Given the description of an element on the screen output the (x, y) to click on. 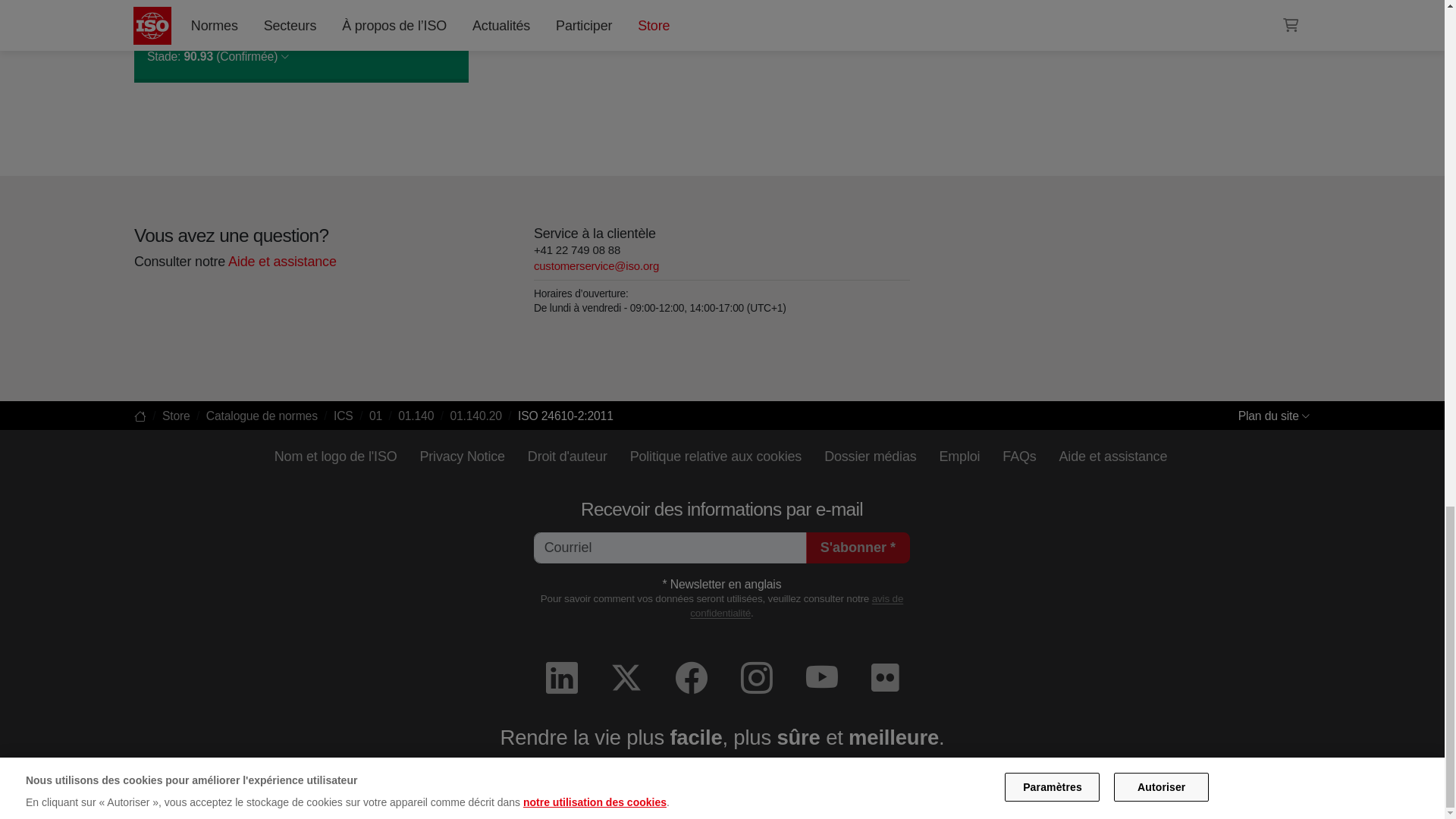
help-support (281, 260)
